Given the description of an element on the screen output the (x, y) to click on. 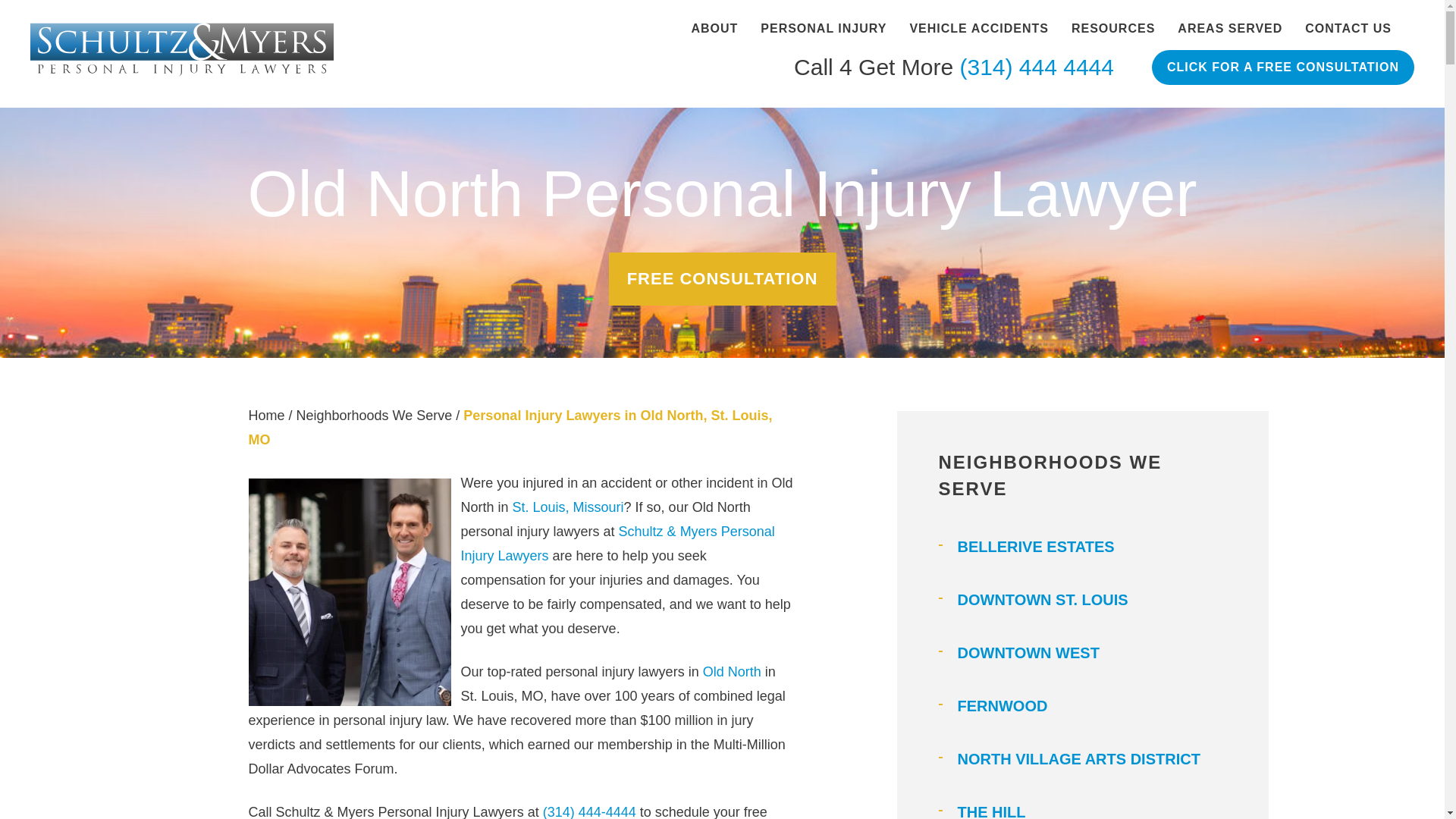
Home (266, 415)
St. Louis, Missouri (568, 507)
FREE CONSULTATION (721, 278)
ABOUT (714, 28)
PERSONAL INJURY (823, 28)
VEHICLE ACCIDENTS (978, 28)
RESOURCES (1112, 28)
CLICK FOR A FREE CONSULTATION (1282, 67)
AREAS SERVED (1229, 28)
Neighborhoods We Serve (374, 415)
